Given the description of an element on the screen output the (x, y) to click on. 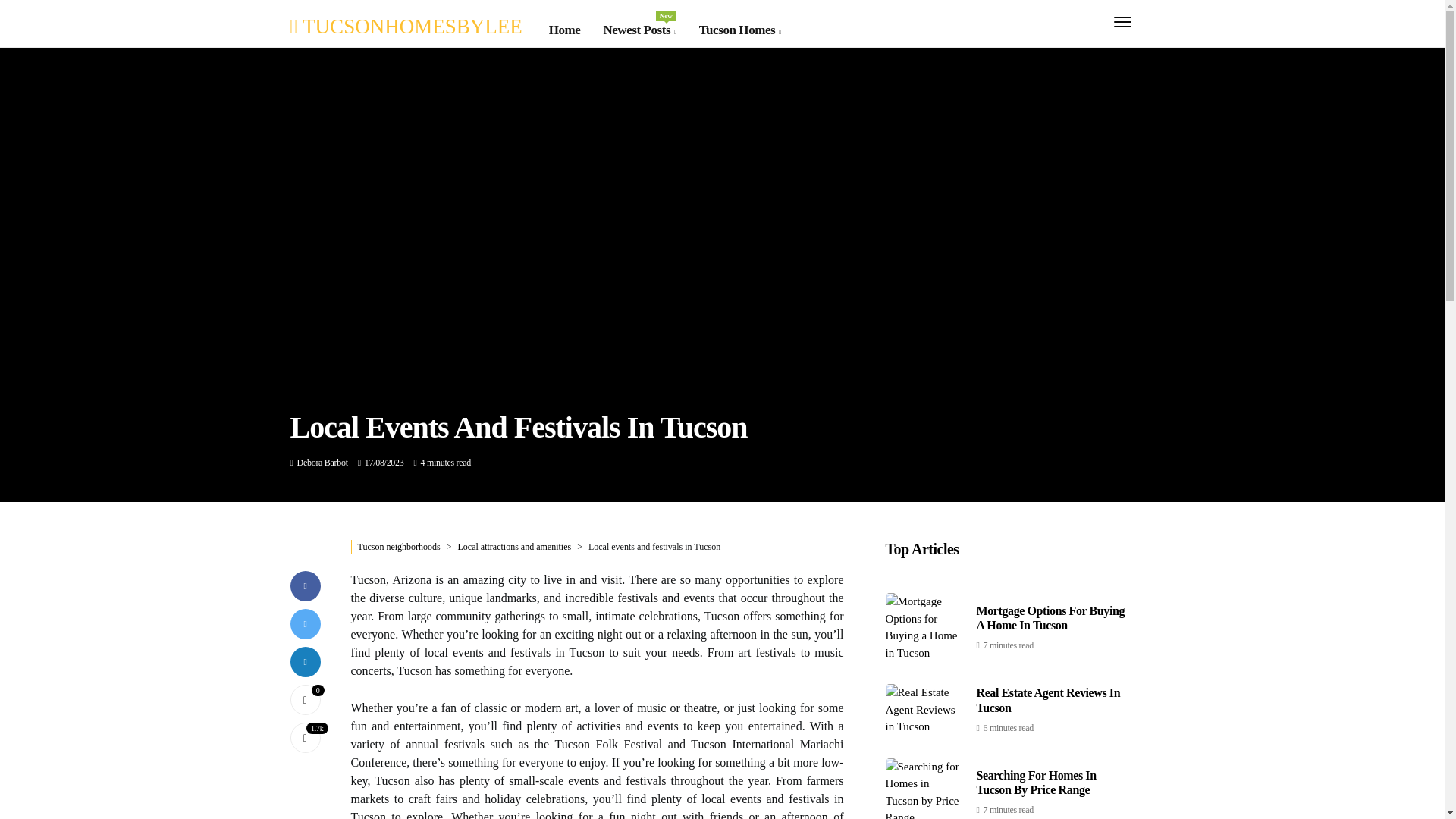
Posts by Debora Barbot (322, 462)
TUCSONHOMESBYLEE (405, 26)
Tucson Homes (739, 30)
Like (304, 698)
